Given the description of an element on the screen output the (x, y) to click on. 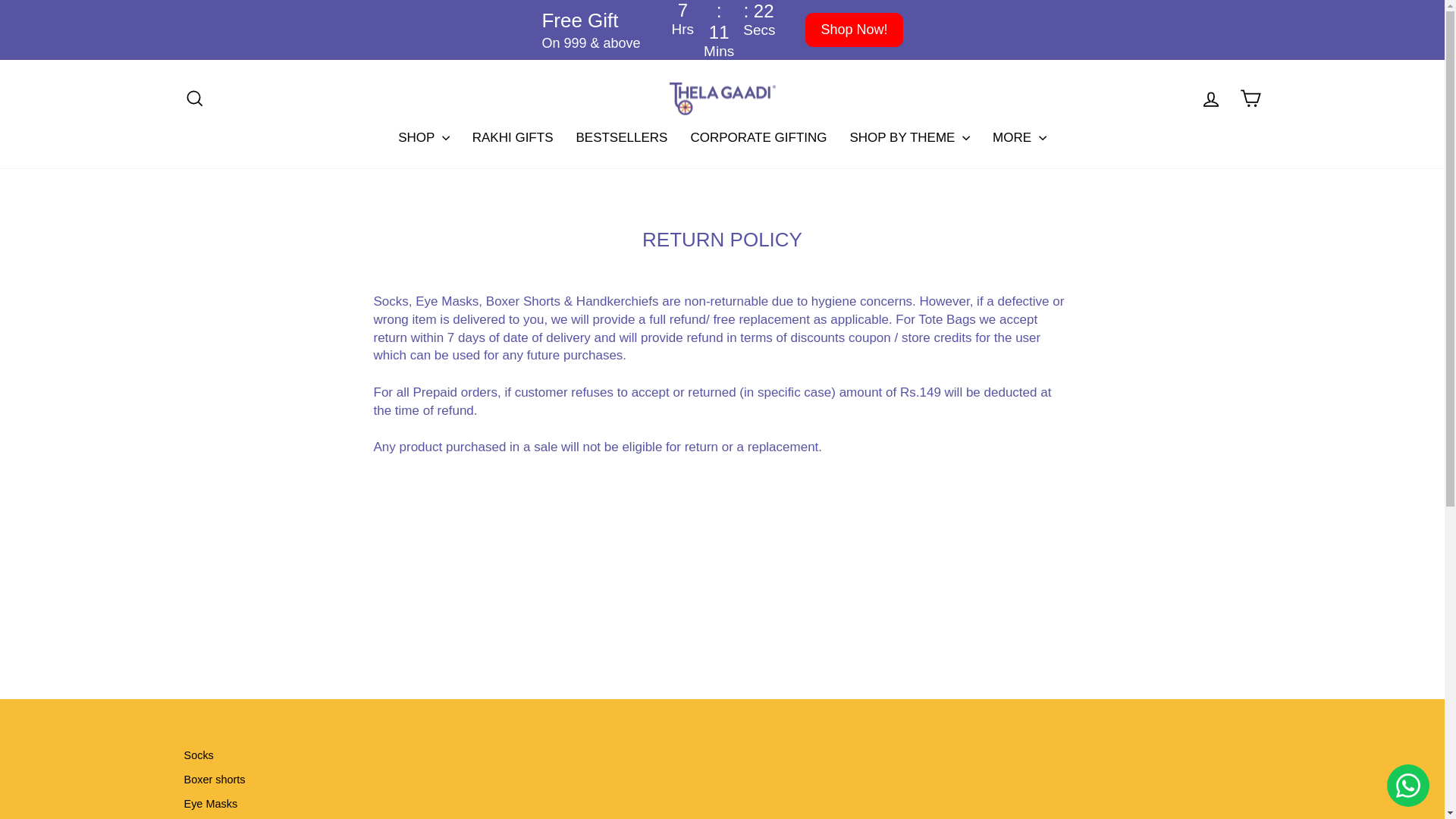
WhatsApp (1408, 785)
ICON-SEARCH (194, 97)
Shop Now! (853, 29)
ACCOUNT (1210, 98)
